Given the description of an element on the screen output the (x, y) to click on. 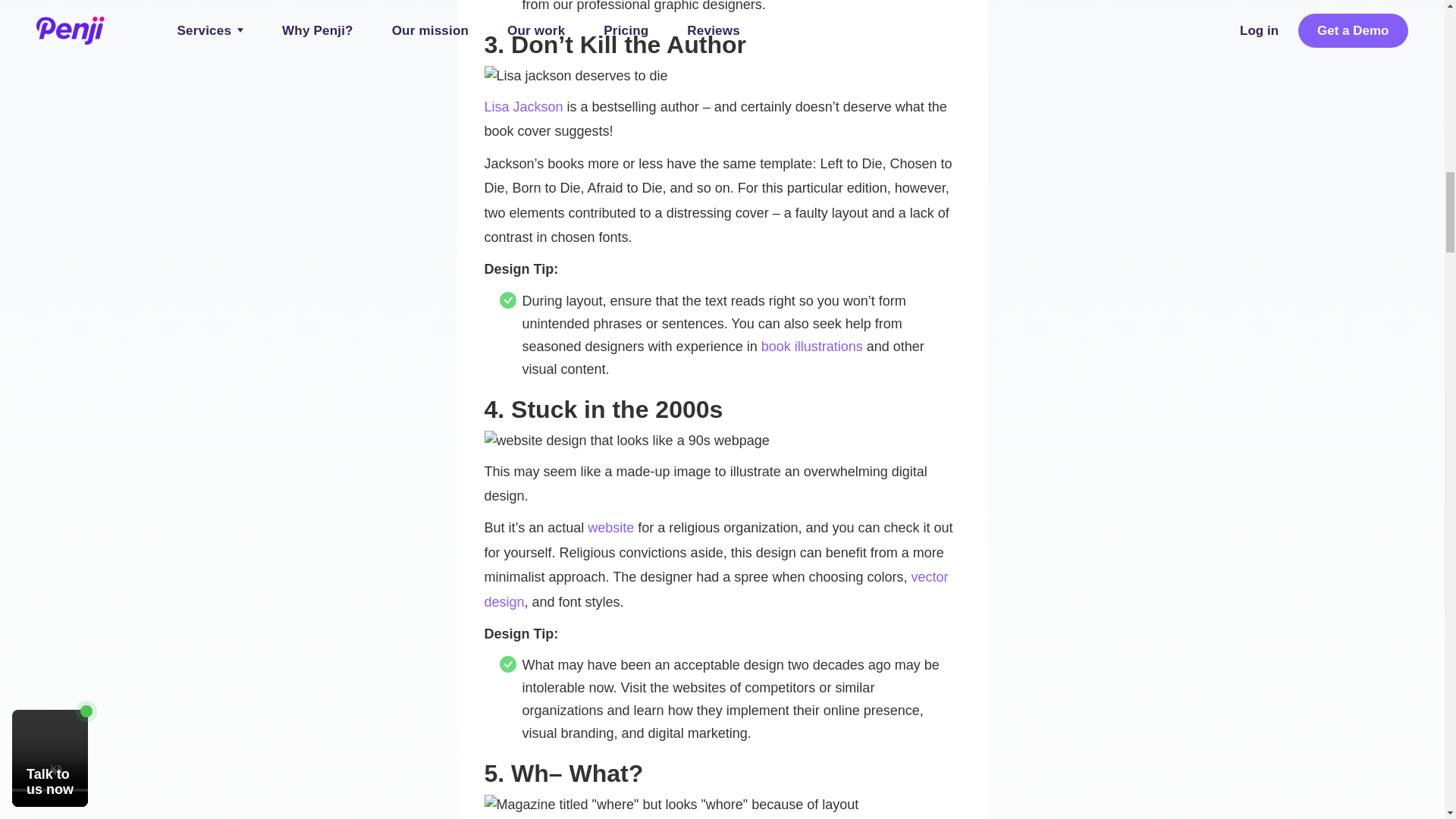
website (610, 527)
Lisa Jackson (522, 106)
book illustrations (812, 346)
vector design (715, 589)
